Given the description of an element on the screen output the (x, y) to click on. 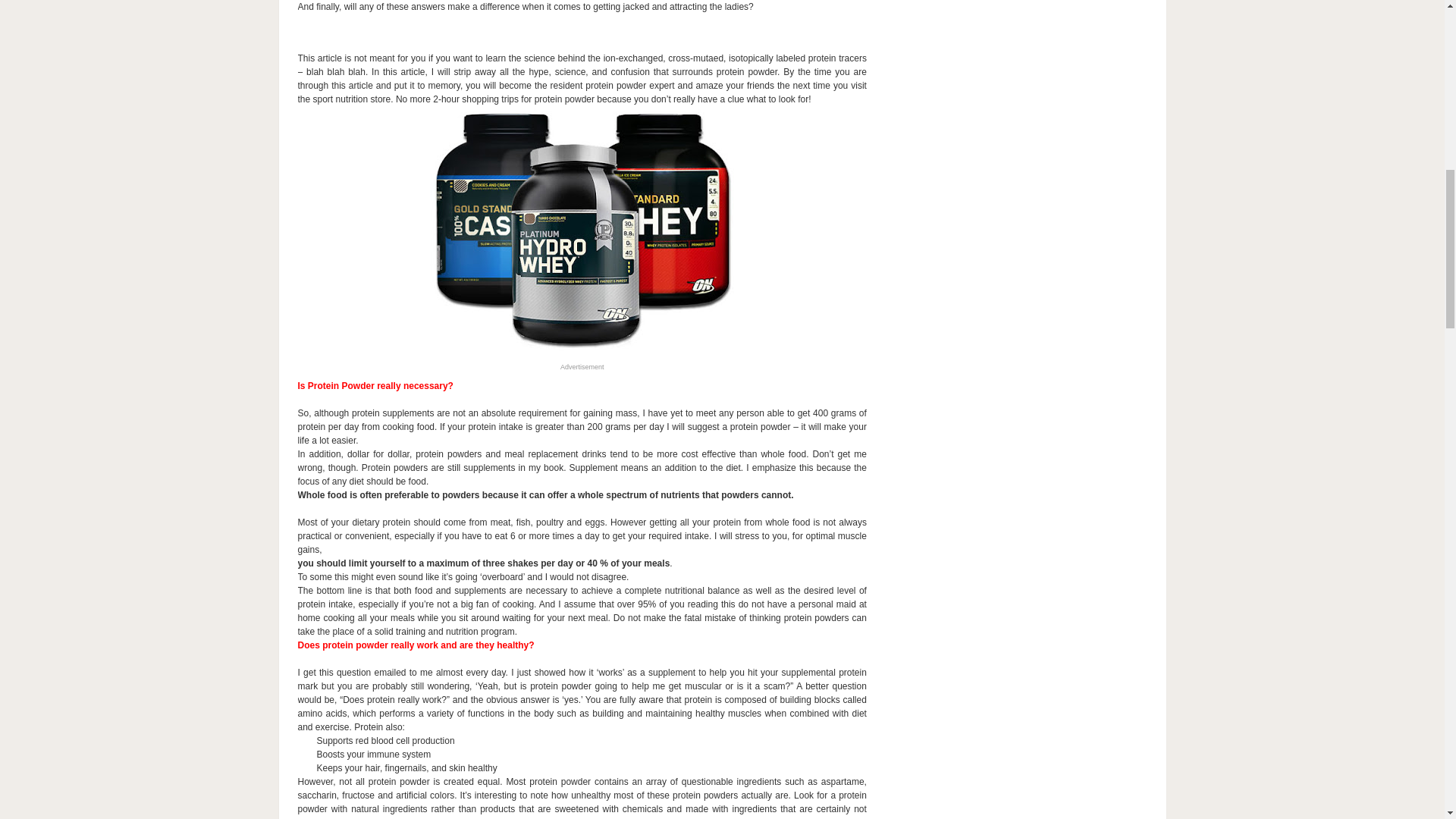
Protein Powder (581, 228)
